Given the description of an element on the screen output the (x, y) to click on. 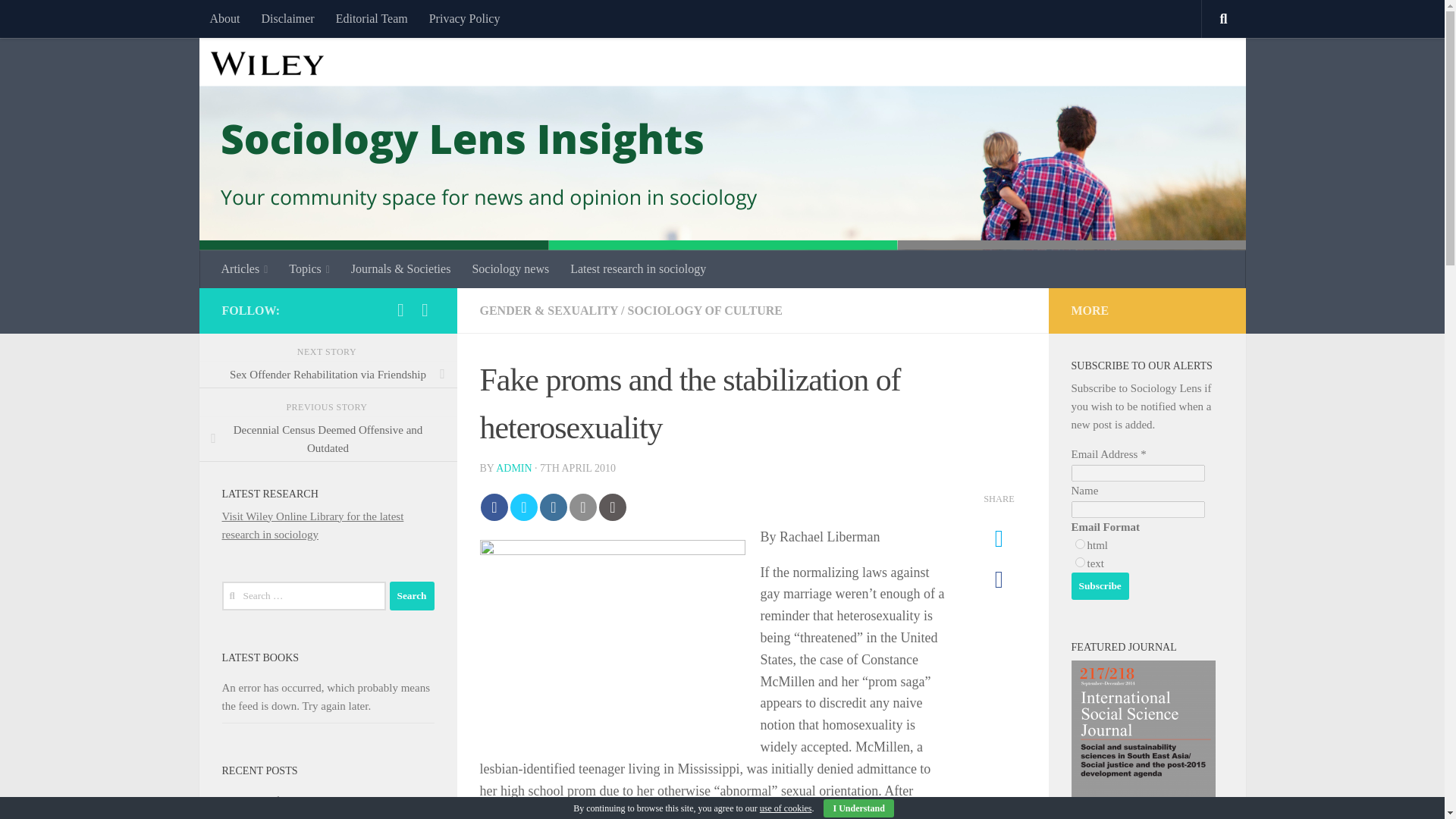
Subscribe (1099, 585)
Share on LinkedIn (553, 506)
Share on Facebook (494, 506)
Search (411, 595)
Posts by admin (513, 468)
Skip to content (59, 20)
Share it on Email (582, 506)
Search (411, 595)
Share on Twitter (524, 506)
html (1079, 543)
text (1079, 562)
Print (612, 506)
